Given the description of an element on the screen output the (x, y) to click on. 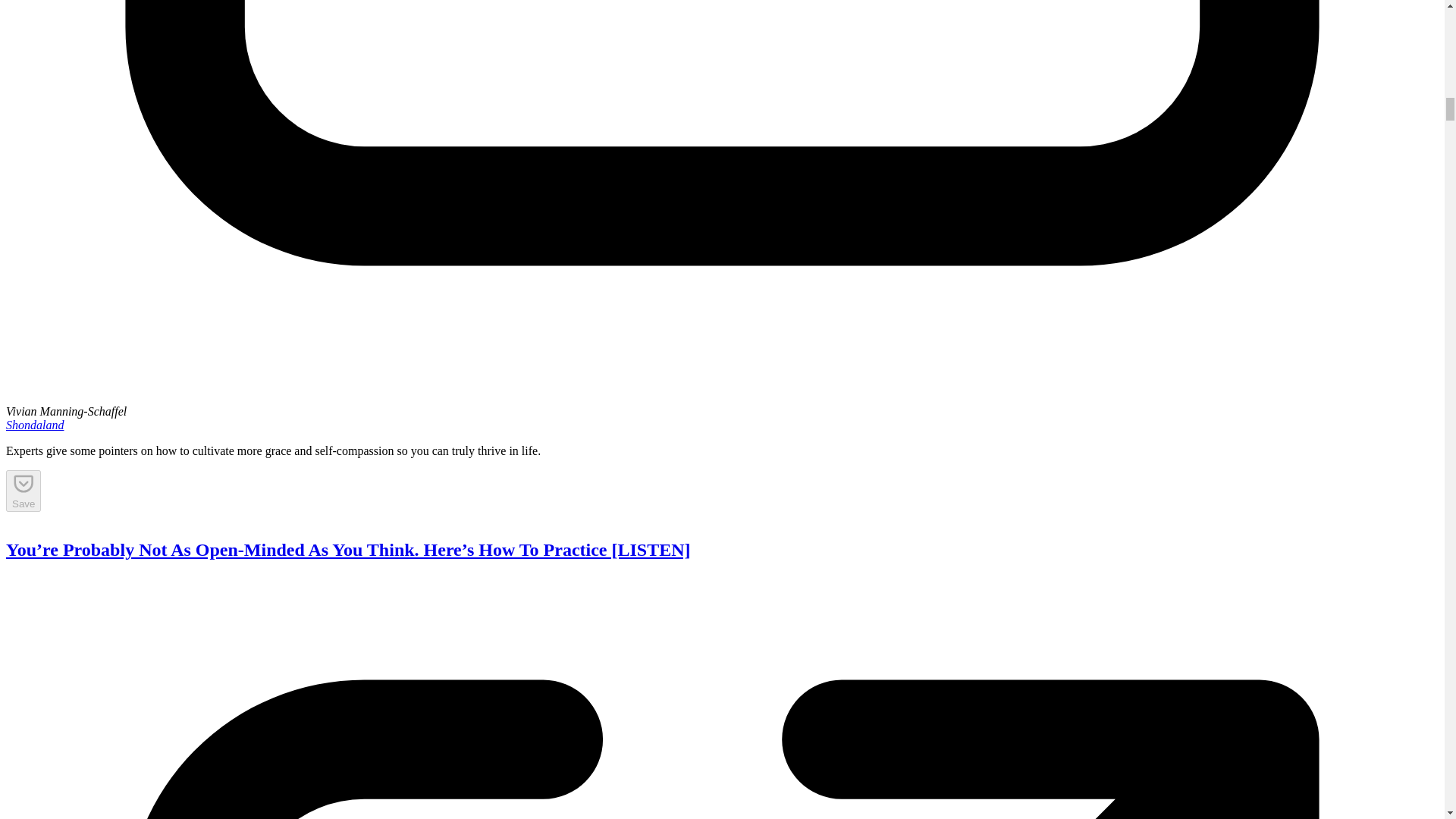
Shondaland (34, 424)
Save (22, 490)
